Given the description of an element on the screen output the (x, y) to click on. 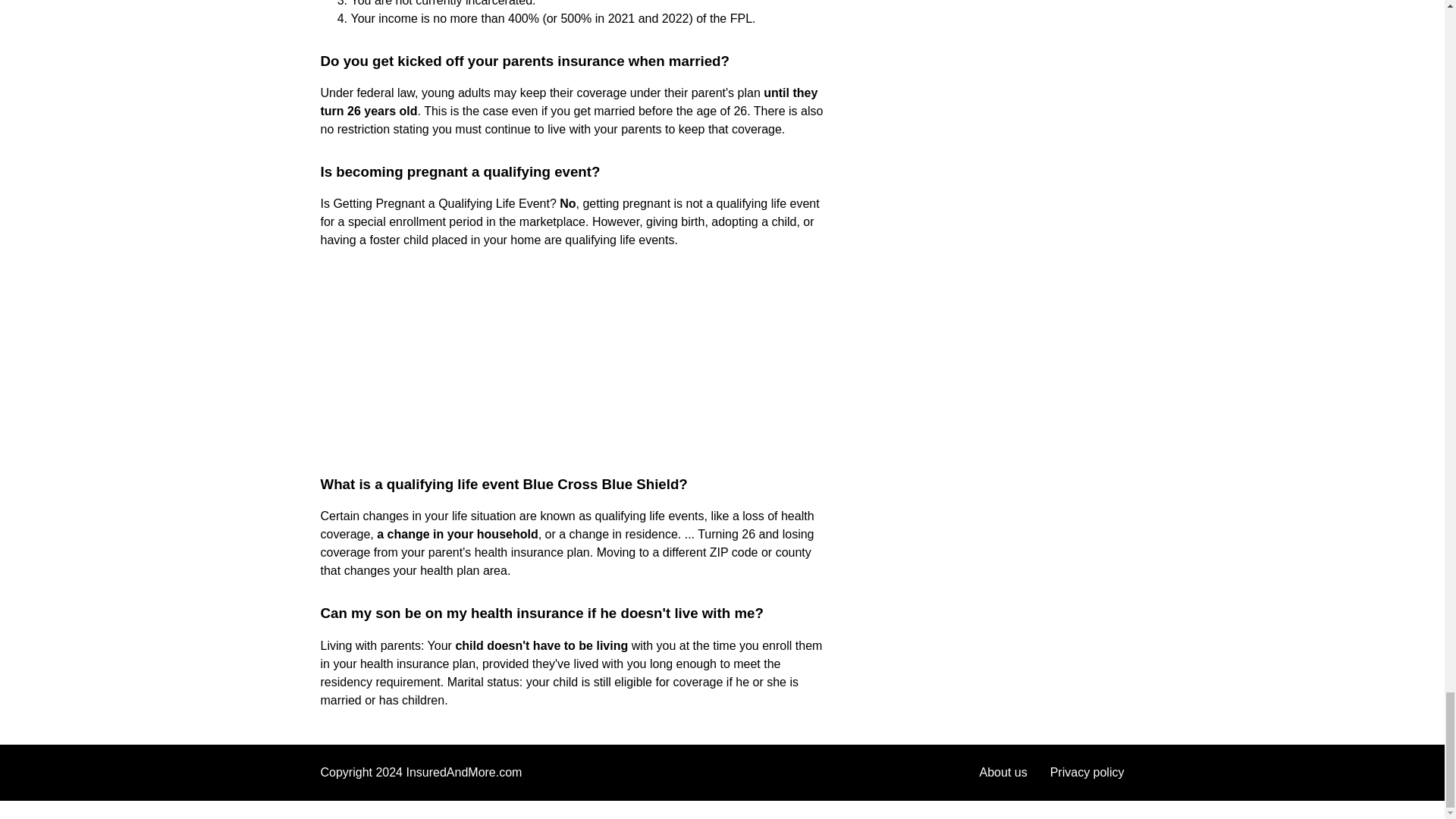
Privacy policy (1086, 772)
About us (1003, 772)
